Given the description of an element on the screen output the (x, y) to click on. 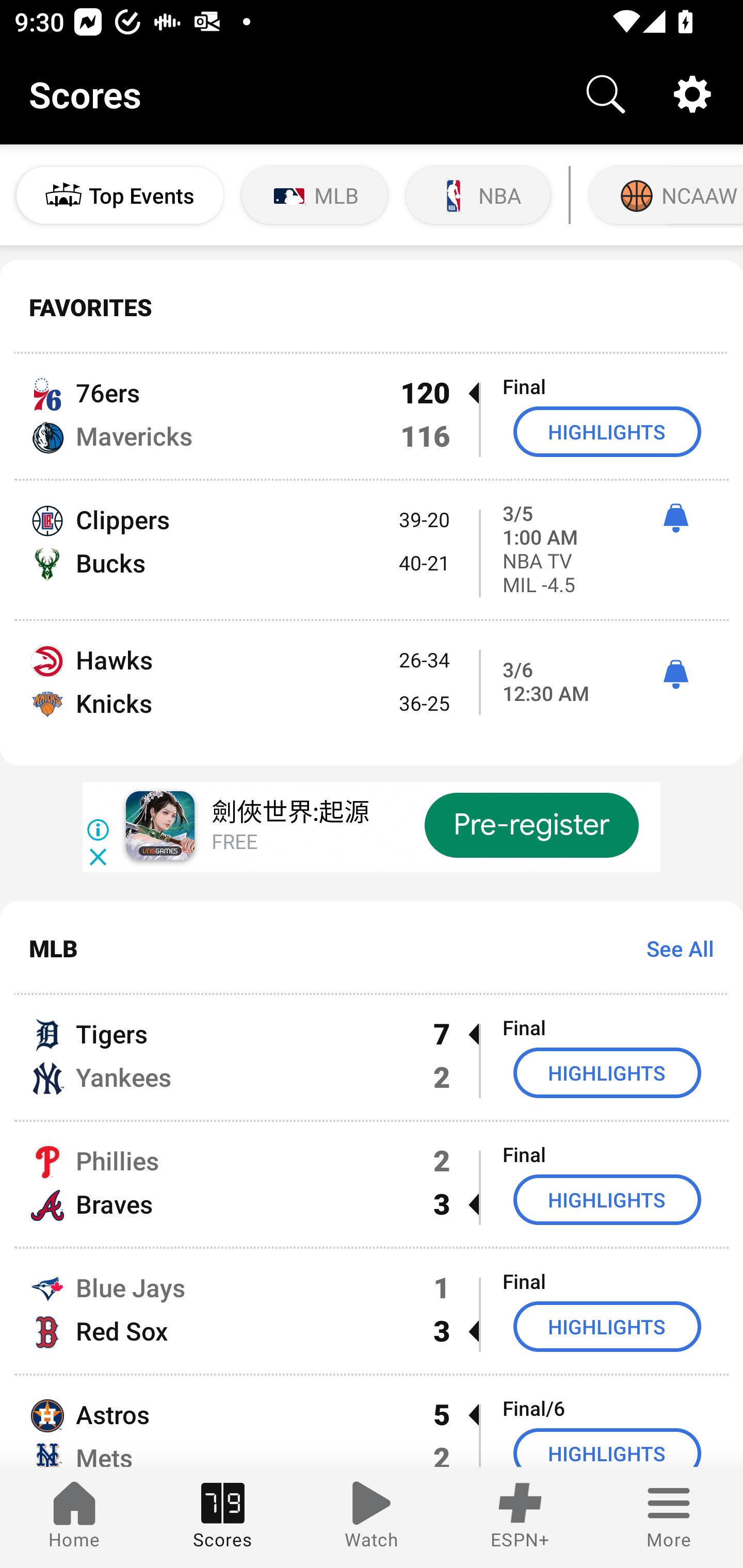
Search (605, 93)
Settings (692, 93)
 Top Events (119, 194)
MLB (314, 194)
NBA (477, 194)
NCAAW (664, 194)
FAVORITES (371, 307)
76ers 120  Final Mavericks 116 HIGHLIGHTS (371, 416)
HIGHLIGHTS (607, 431)
ì (675, 517)
Hawks 26-34 Knicks 36-25 3/6 12:30 AM ì (371, 692)
ì (675, 674)
Pre-register (530, 825)
劍俠世界:起源 (289, 813)
FREE (234, 843)
MLB See All (371, 948)
See All (673, 947)
Tigers 7  Final Yankees 2 HIGHLIGHTS (371, 1057)
HIGHLIGHTS (607, 1072)
Phillies 2 Final Braves 3  HIGHLIGHTS (371, 1183)
HIGHLIGHTS (607, 1199)
Blue Jays 1 Final Red Sox 3  HIGHLIGHTS (371, 1310)
HIGHLIGHTS (607, 1326)
Astros 5  Final/6 Mets 2 HIGHLIGHTS (371, 1421)
HIGHLIGHTS (607, 1447)
Home (74, 1517)
Watch (371, 1517)
ESPN+ (519, 1517)
More (668, 1517)
